Given the description of an element on the screen output the (x, y) to click on. 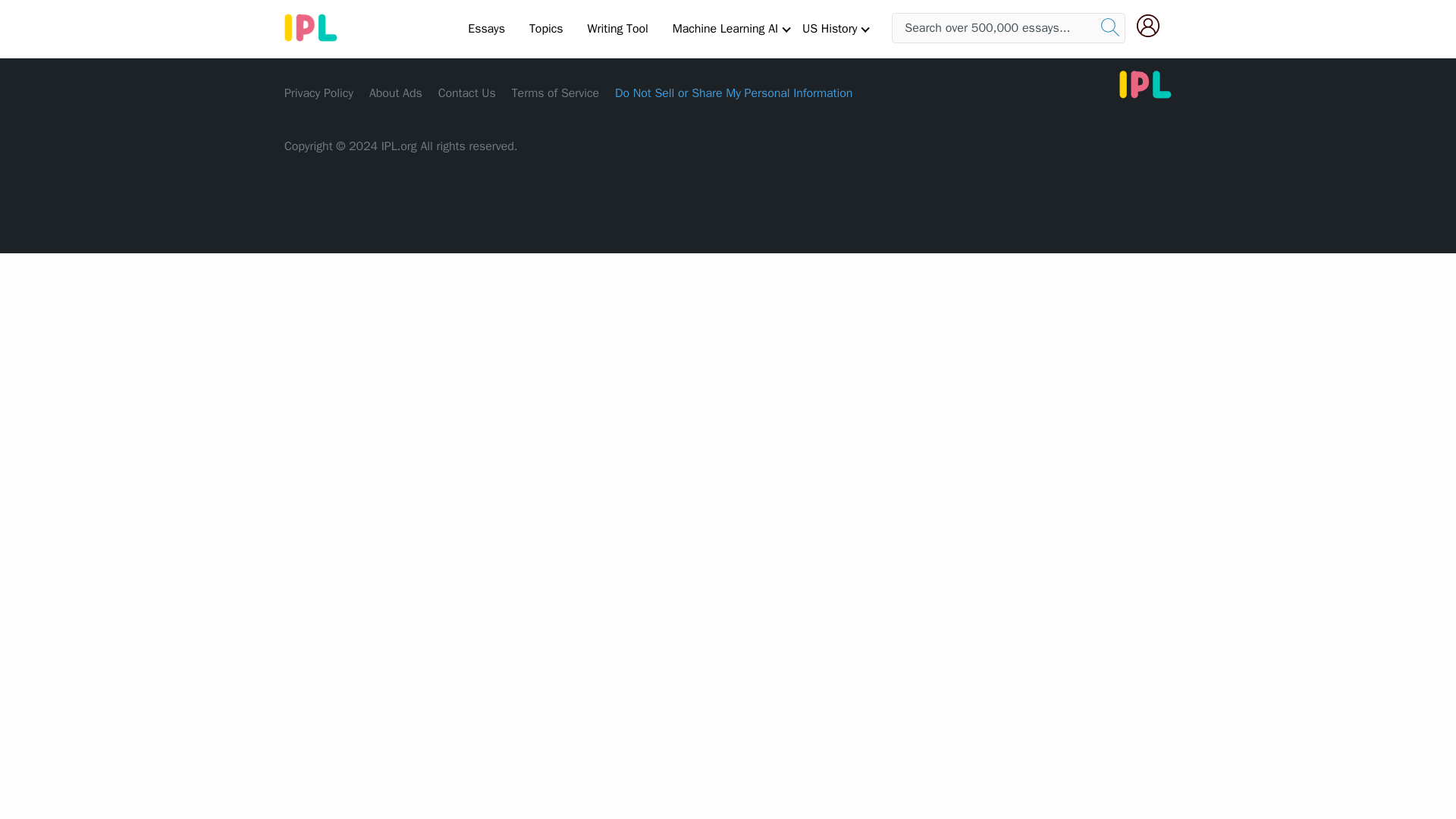
US History (829, 28)
Essays (485, 28)
About Ads (395, 92)
Terms of Service (555, 92)
Terms of Service (555, 92)
About Ads (395, 92)
Do Not Sell or Share My Personal Information (732, 92)
Topics (545, 28)
Privacy Policy (318, 92)
Contact Us (467, 92)
Contact Us (467, 92)
Machine Learning AI (725, 28)
Writing Tool (617, 28)
Privacy Policy (318, 92)
